Given the description of an element on the screen output the (x, y) to click on. 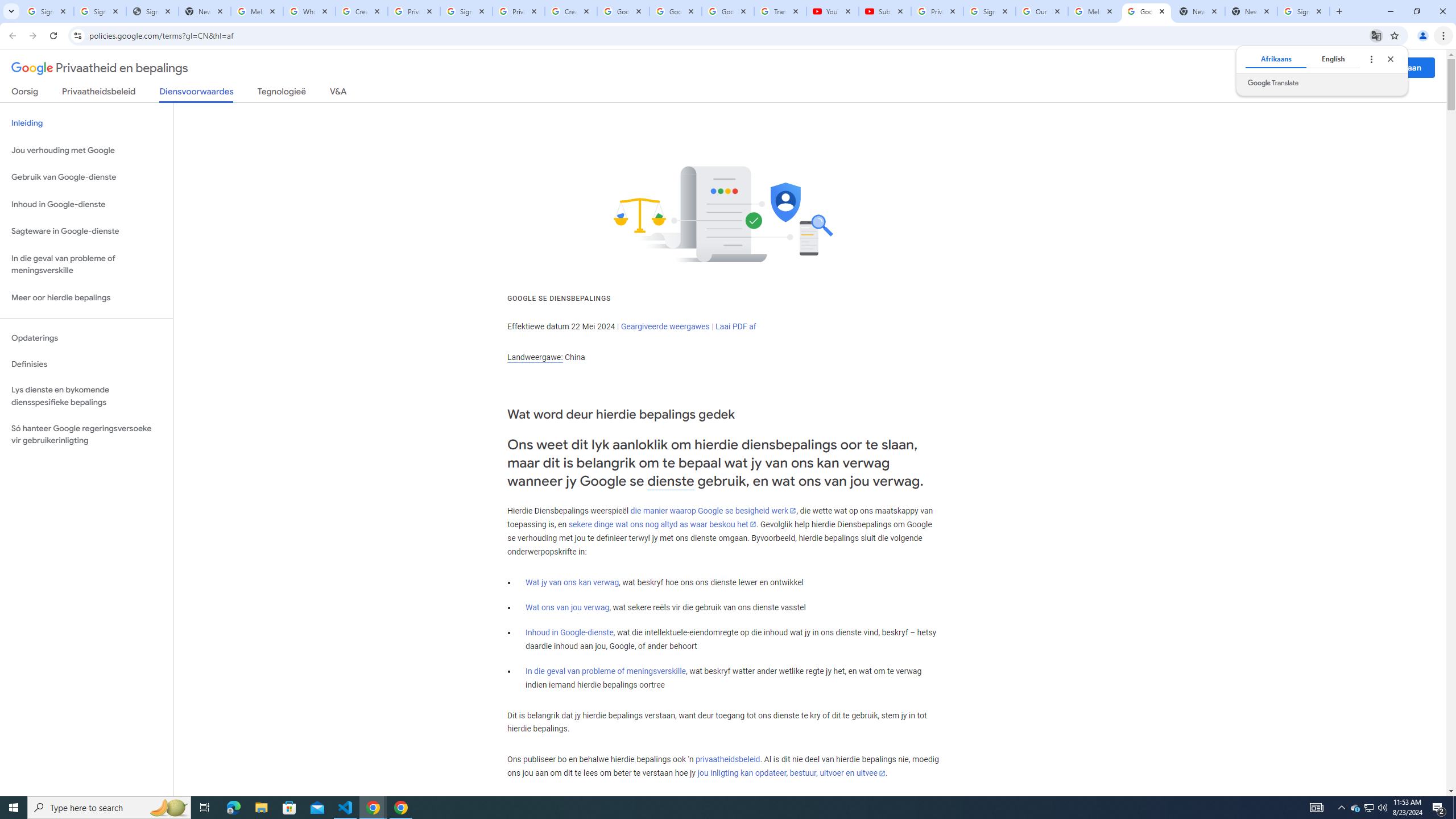
privaatheidsbeleid (727, 759)
Google-programme (1355, 67)
Sign in - Google Accounts (1303, 11)
Afrikaans (1275, 58)
Diensvoorwaardes (196, 94)
English (1332, 58)
Meld aan (1404, 67)
